Given the description of an element on the screen output the (x, y) to click on. 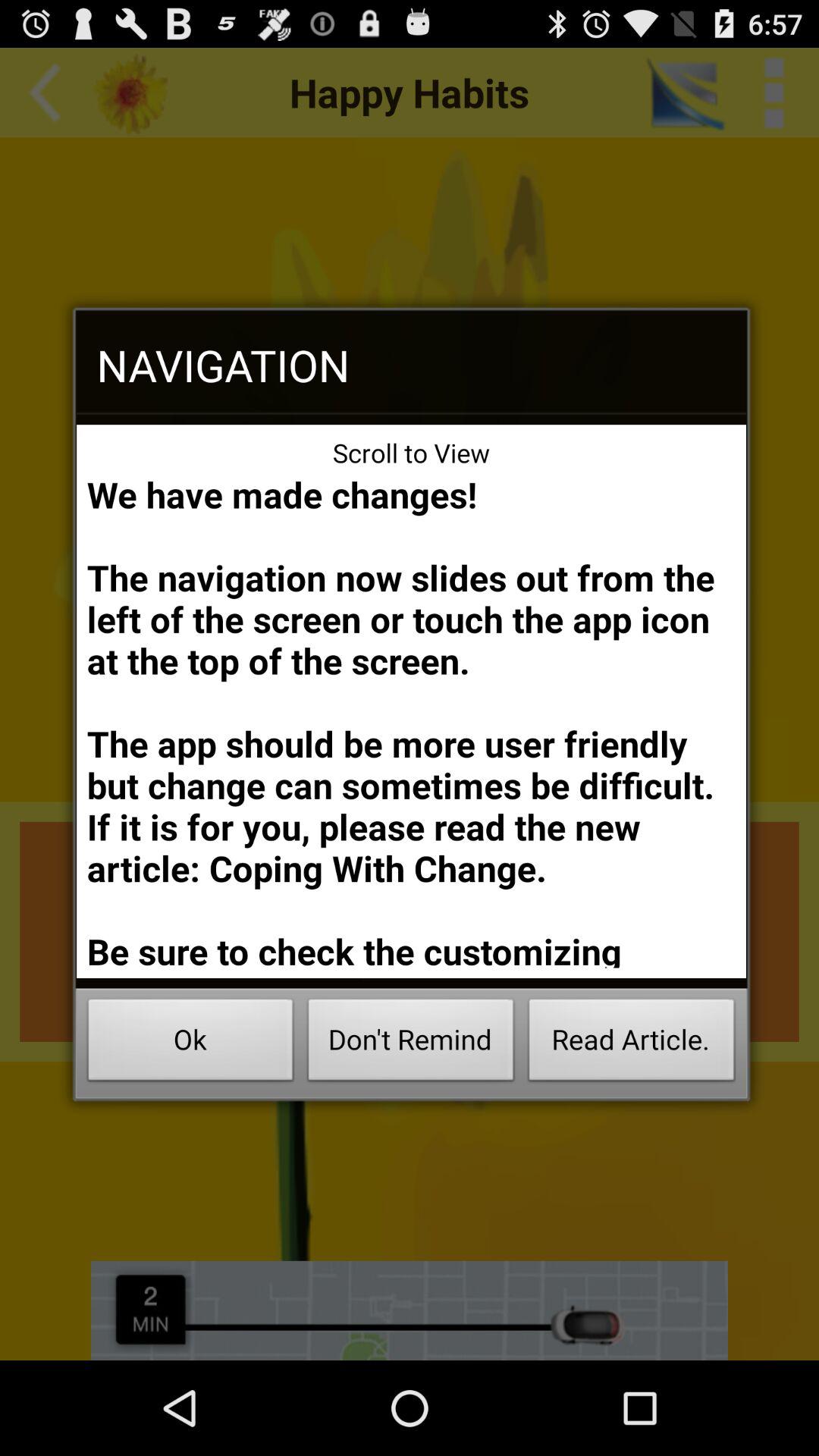
press the item next to the don't remind (190, 1044)
